Given the description of an element on the screen output the (x, y) to click on. 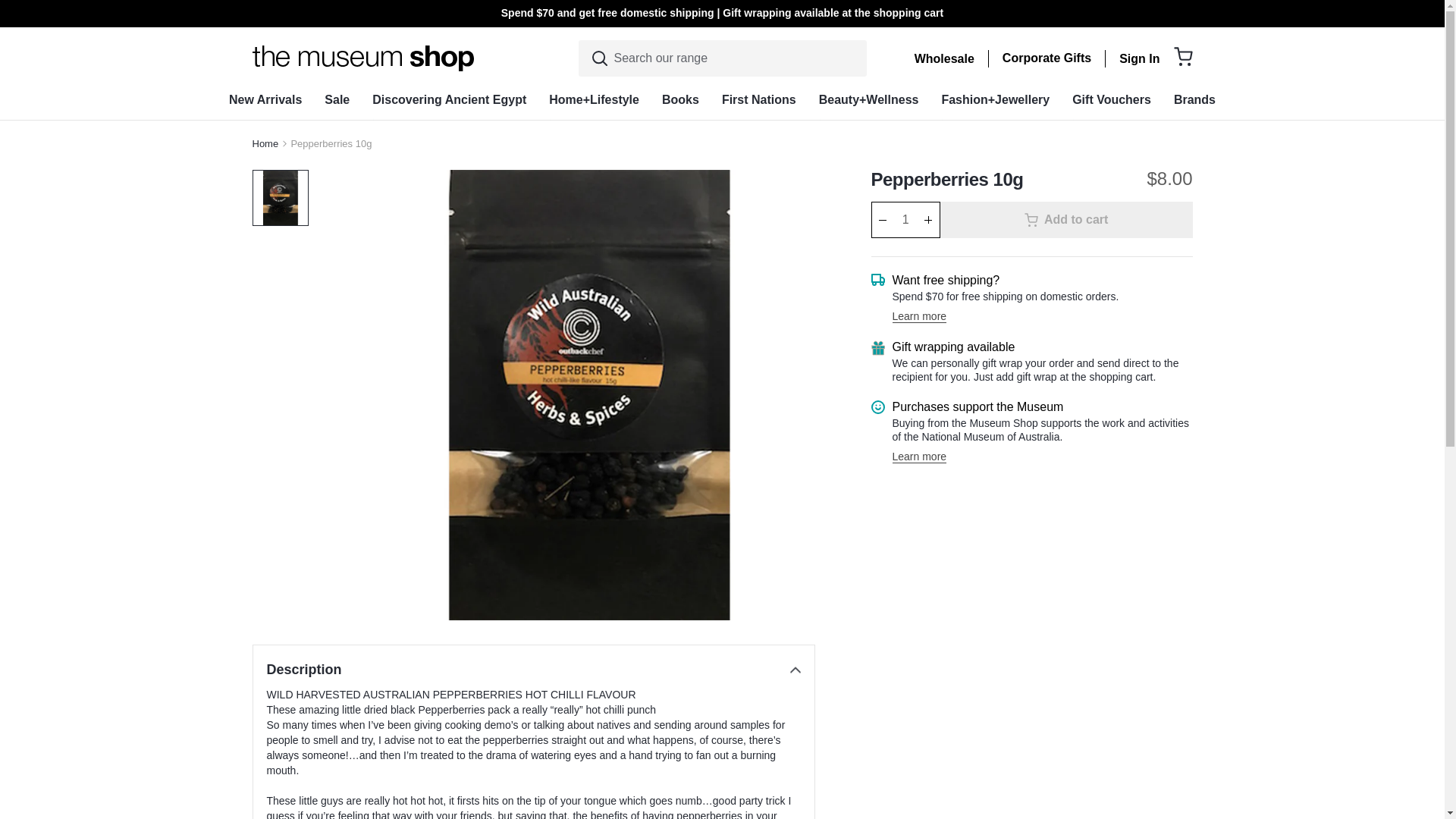
Books (680, 99)
New Arrivals (264, 99)
value (8, 7)
Wholesale (944, 59)
Sale (337, 99)
Sign In (1138, 59)
First Nations (759, 99)
Discovering Ancient Egypt (449, 99)
Corporate Gifts (1046, 58)
Home (264, 143)
